Given the description of an element on the screen output the (x, y) to click on. 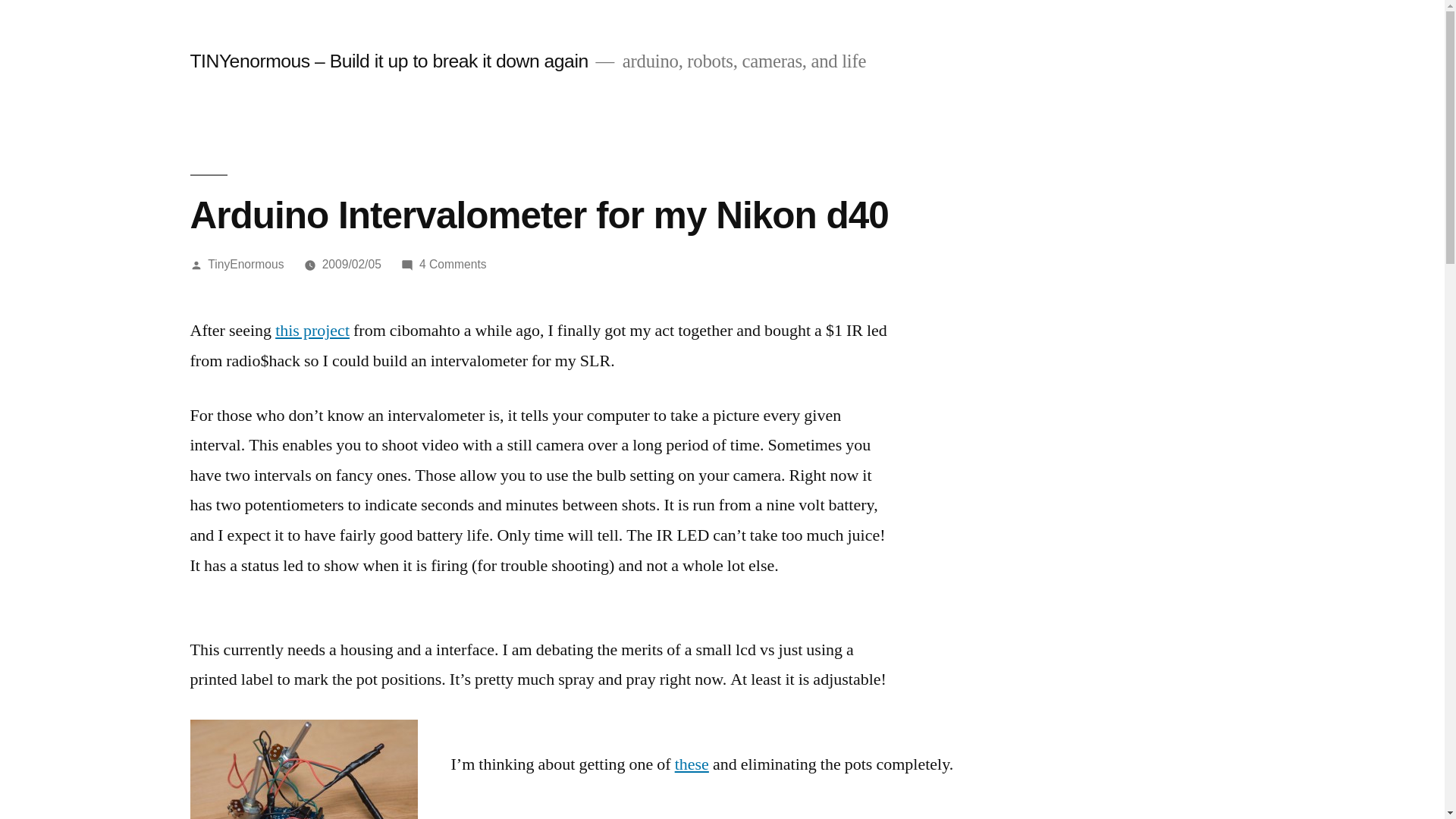
TinyEnormous (452, 264)
this project (245, 264)
arduino d40 ir intervalometer (312, 330)
these (302, 769)
